Given the description of an element on the screen output the (x, y) to click on. 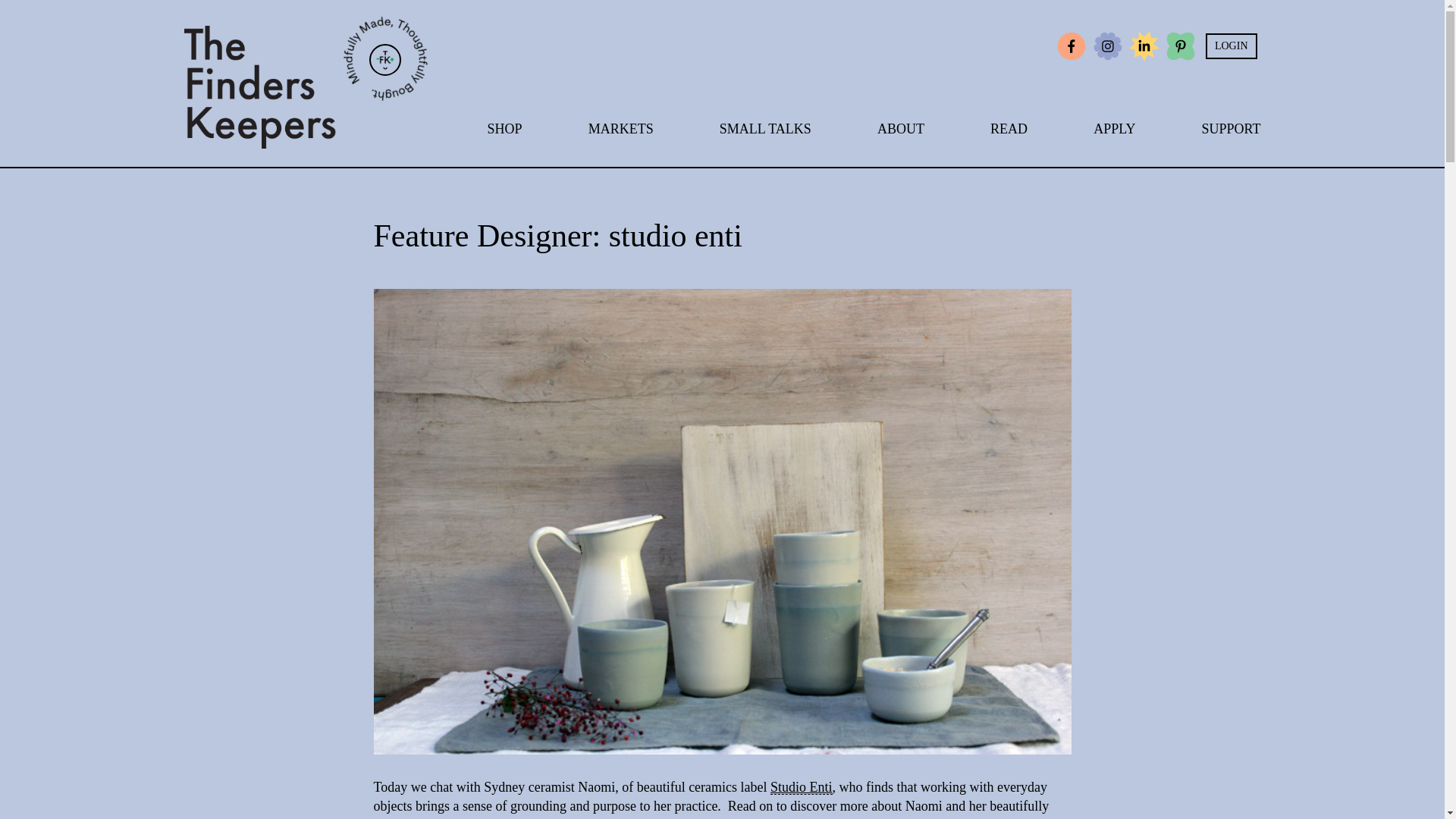
LOGIN (1231, 45)
SMALL TALKS (764, 128)
MARKETS (620, 128)
APPLY (1114, 128)
ABOUT (900, 128)
READ (1008, 128)
SUPPORT (1230, 128)
SHOP (503, 128)
Studio Enit (801, 787)
